Given the description of an element on the screen output the (x, y) to click on. 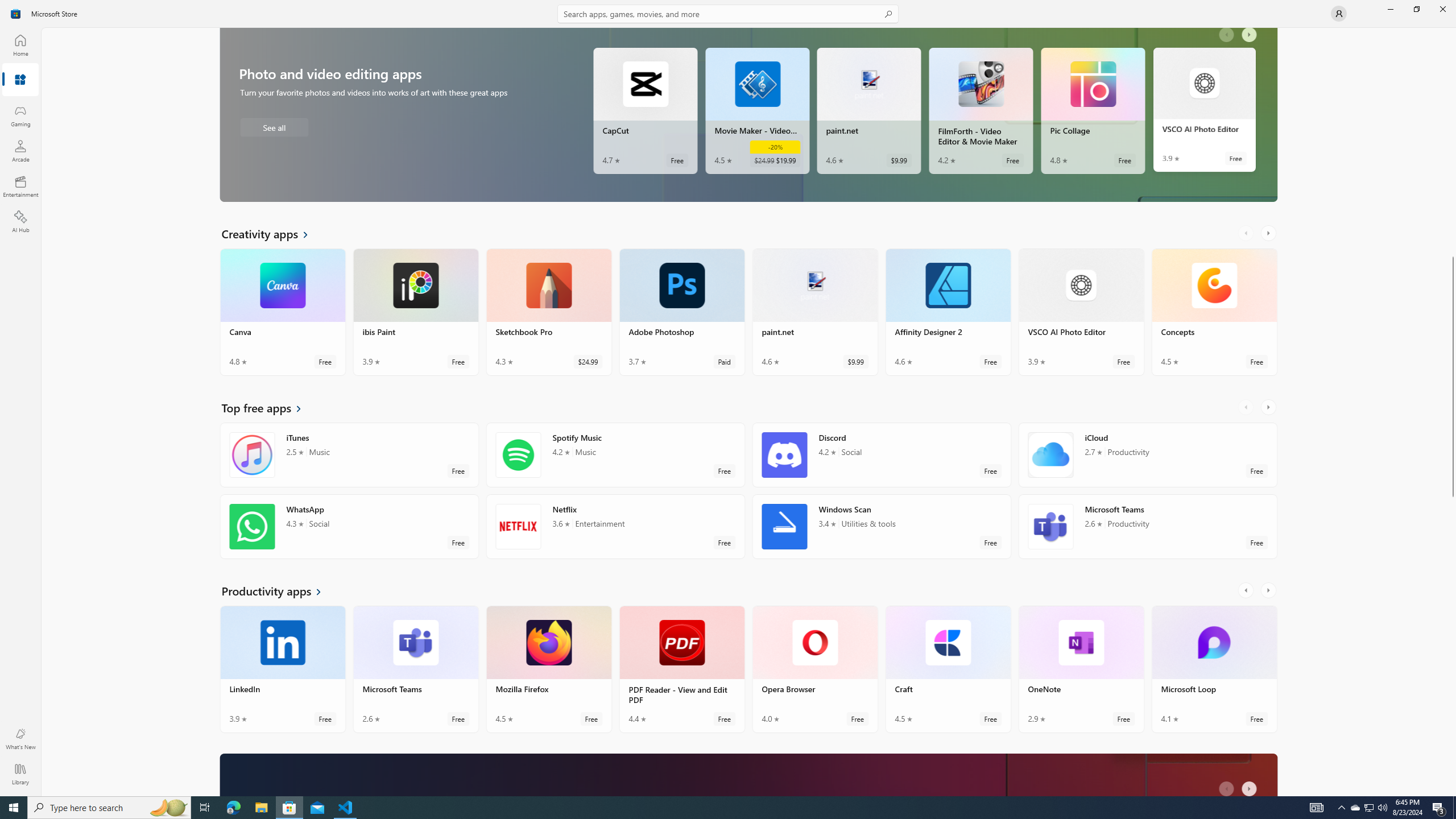
Vertical (1452, 412)
WhatsApp. Average rating of 4.3 out of five stars. Free   (349, 526)
Vertical Small Increase (1452, 792)
iCloud. Average rating of 2.7 out of five stars. Free   (1146, 454)
Home (20, 45)
Vertical Large Decrease (1452, 144)
AI Hub (20, 221)
Vertical Large Increase (1452, 642)
Pic Collage. Average rating of 4.8 out of five stars. Free   (1092, 110)
